Given the description of an element on the screen output the (x, y) to click on. 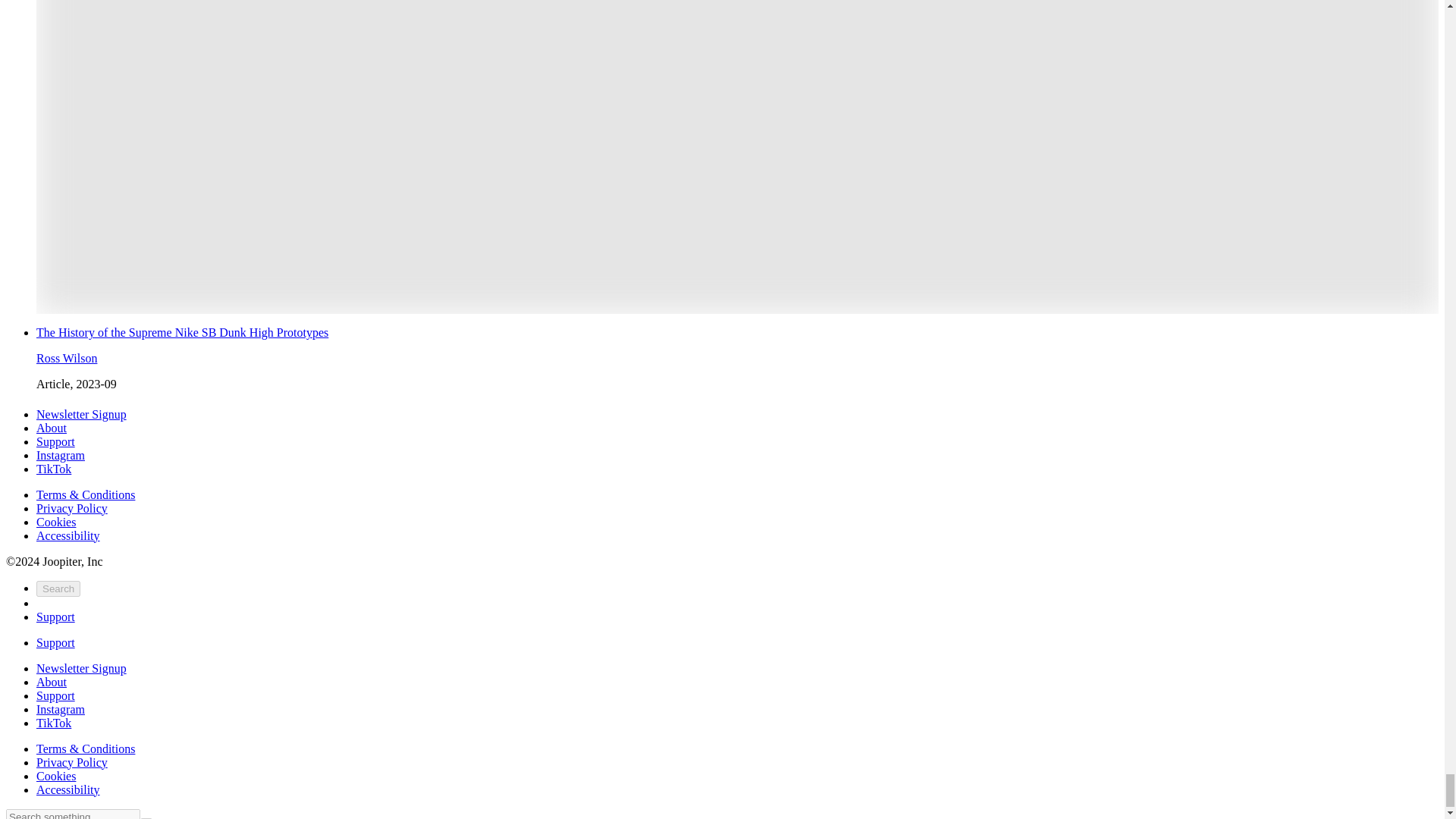
Instagram (60, 708)
About (51, 427)
Support (55, 440)
TikTok (53, 722)
About (51, 681)
Instagram (60, 454)
Newsletter Signup (81, 413)
Newsletter Signup (81, 667)
Support (55, 616)
Search (58, 588)
Cookies (55, 521)
Support (55, 695)
Accessibility (68, 535)
TikTok (53, 468)
Privacy Policy (71, 508)
